Given the description of an element on the screen output the (x, y) to click on. 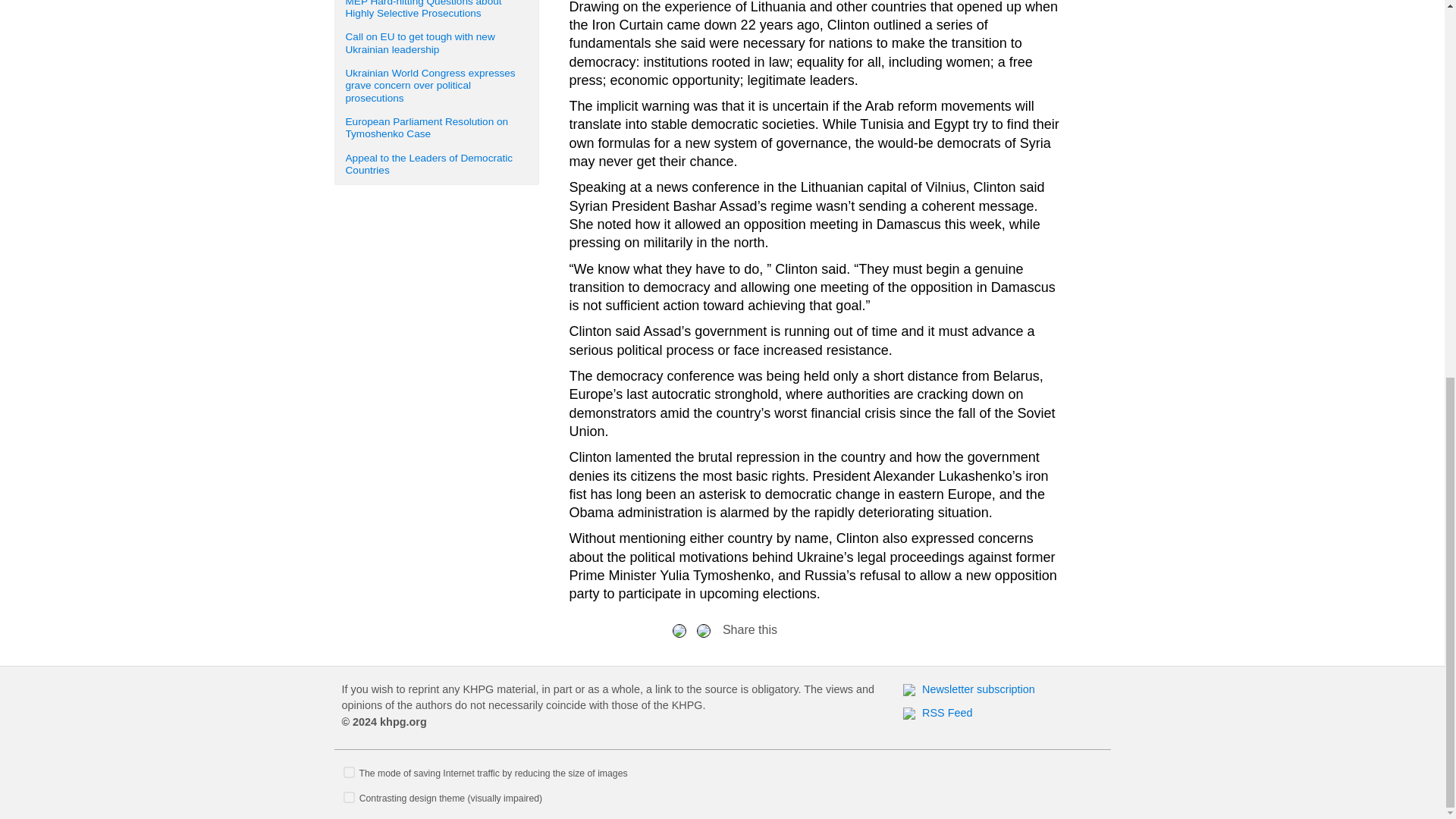
1 (348, 772)
Twitter (703, 629)
Facebook (678, 629)
1 (348, 797)
